Given the description of an element on the screen output the (x, y) to click on. 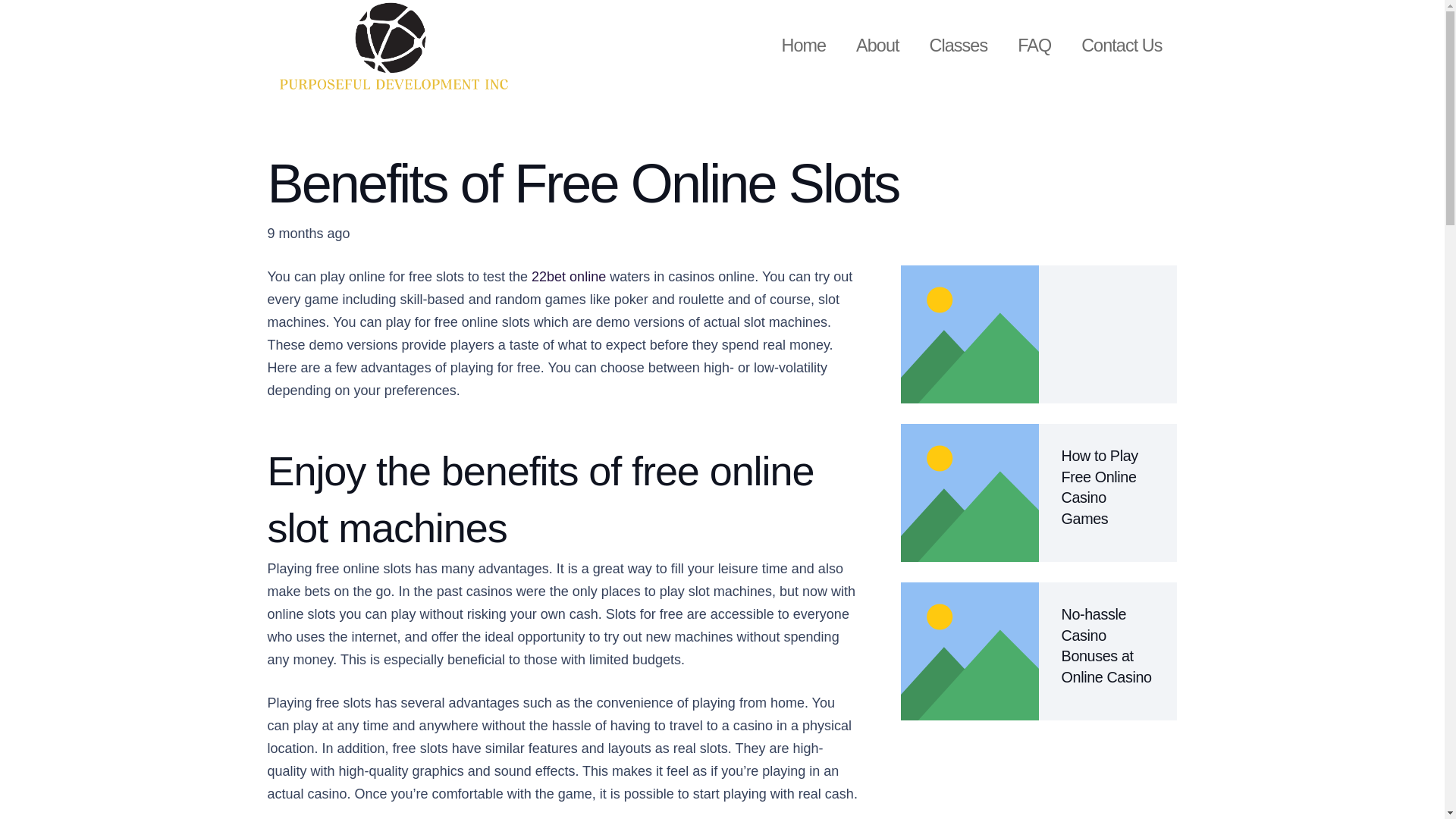
22bet online (568, 276)
How to Play Free Online Casino Games (1099, 487)
Contact Us (1120, 45)
No-hassle Casino Bonuses at Online Casino (1106, 645)
Classes (958, 45)
